Given the description of an element on the screen output the (x, y) to click on. 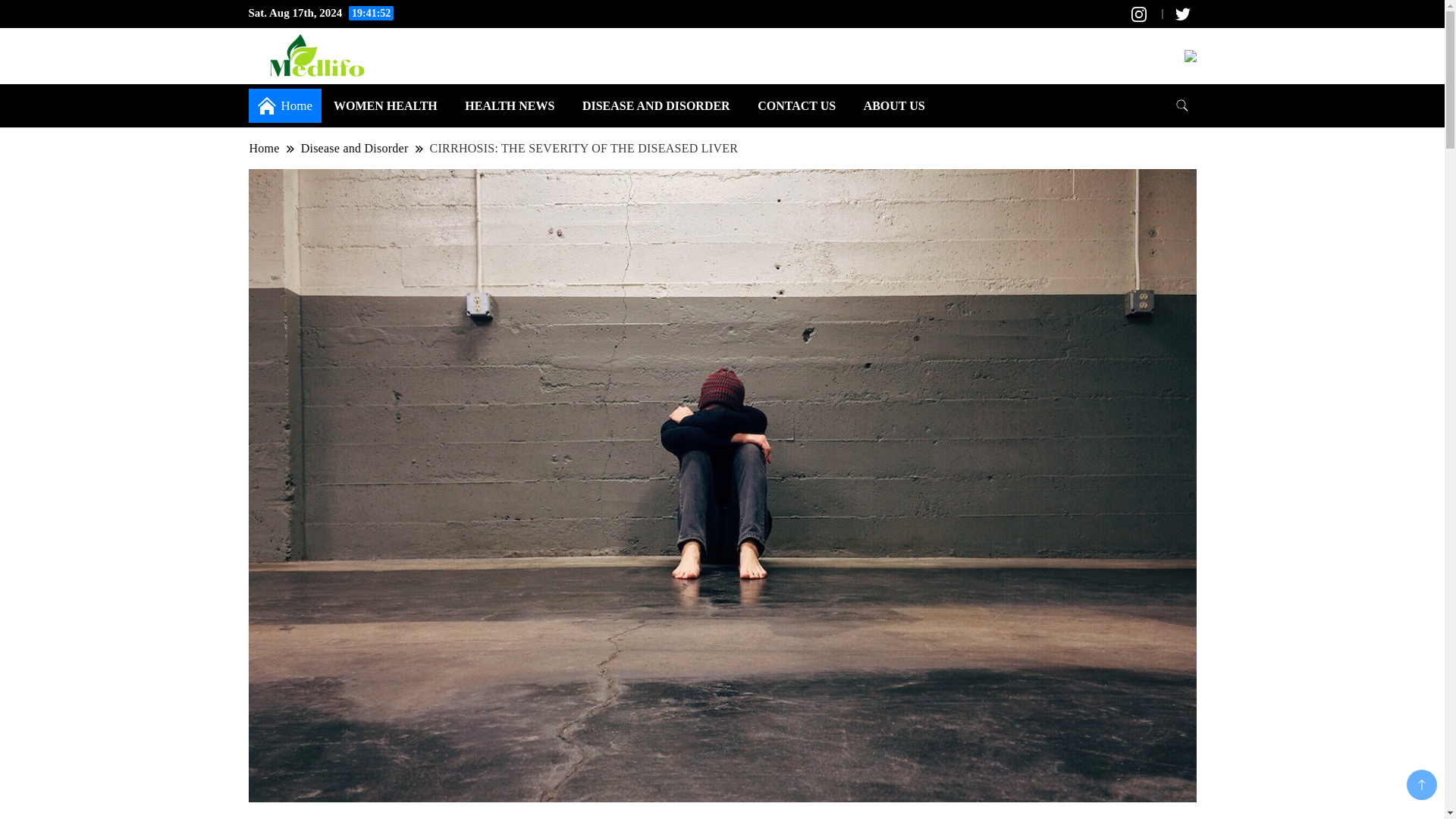
HEALTH NEWS (509, 105)
Home (264, 147)
WOMEN HEALTH (385, 105)
DISEASE AND DISORDER (656, 105)
ABOUT US (894, 105)
Disease and Disorder (354, 147)
CIRRHOSIS: THE SEVERITY OF THE DISEASED LIVER (584, 147)
CONTACT US (796, 105)
